Given the description of an element on the screen output the (x, y) to click on. 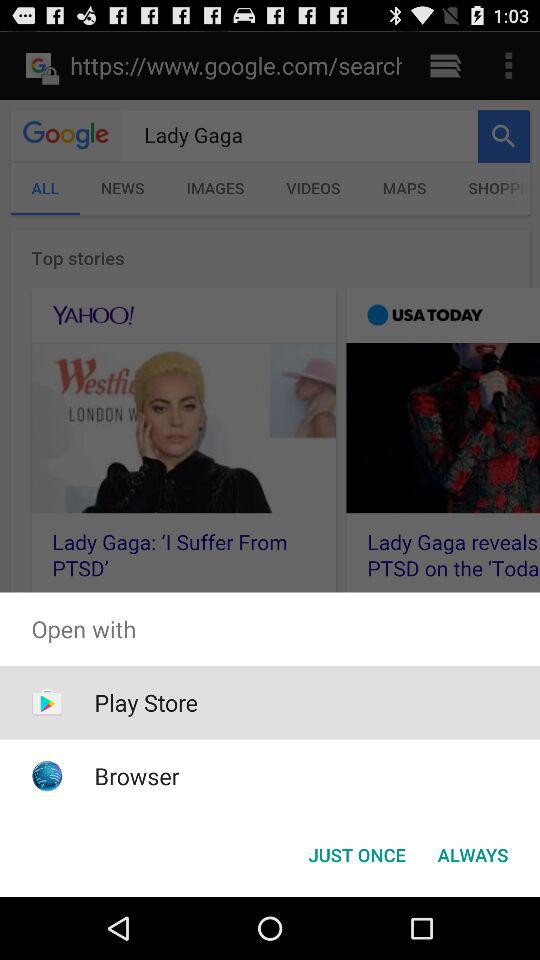
launch the item at the bottom (356, 854)
